Given the description of an element on the screen output the (x, y) to click on. 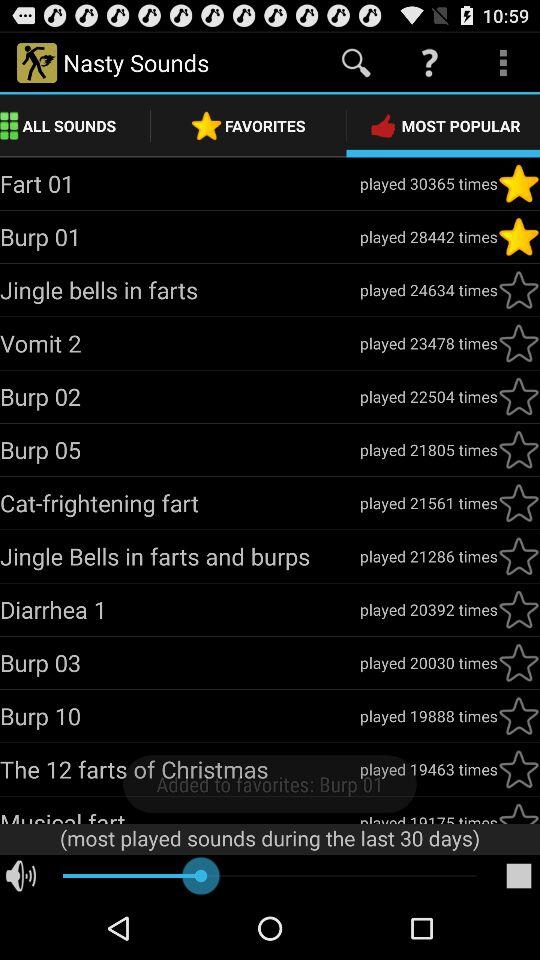
save as favorite (519, 290)
